Given the description of an element on the screen output the (x, y) to click on. 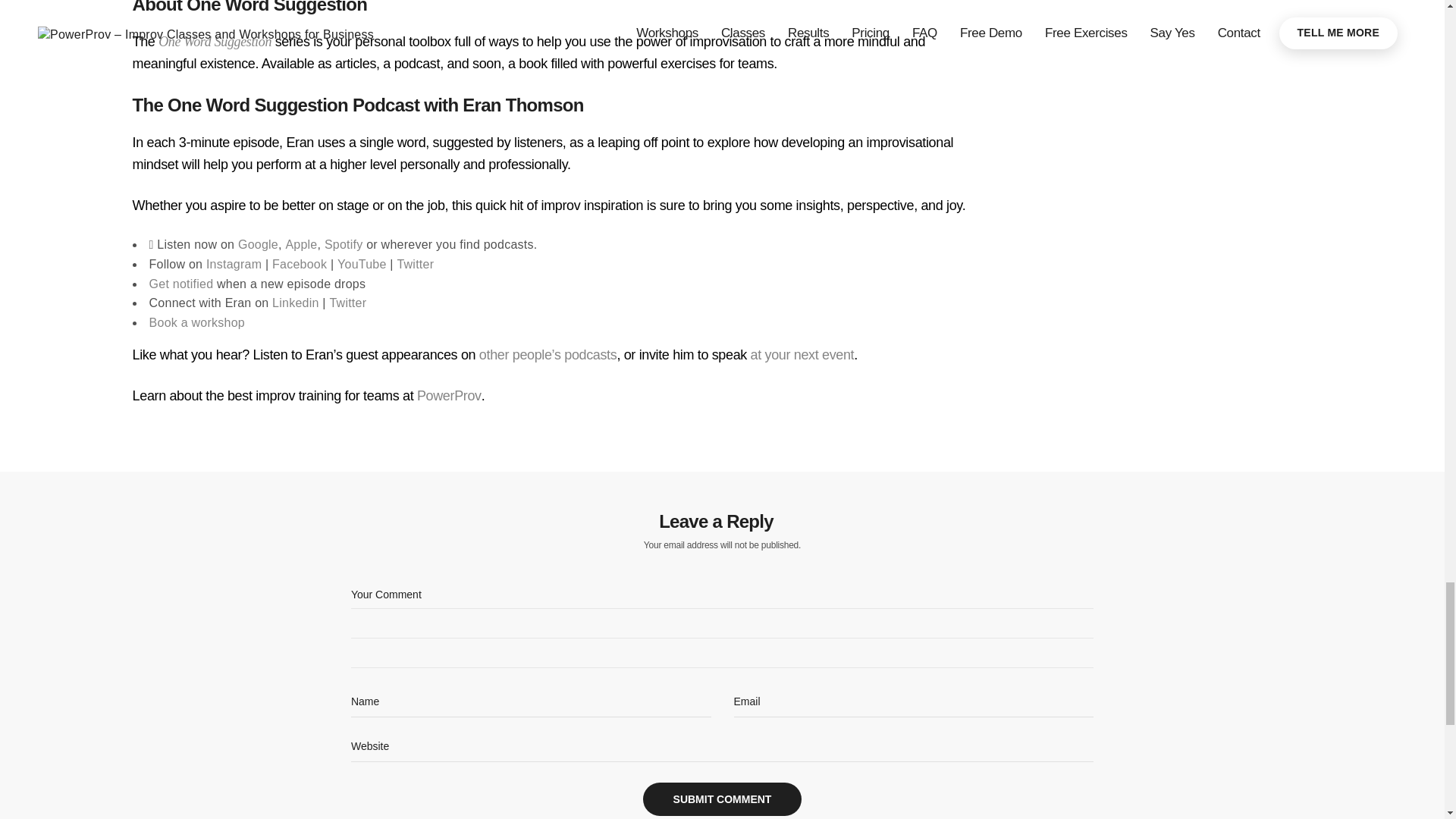
Submit Comment (722, 798)
